Given the description of an element on the screen output the (x, y) to click on. 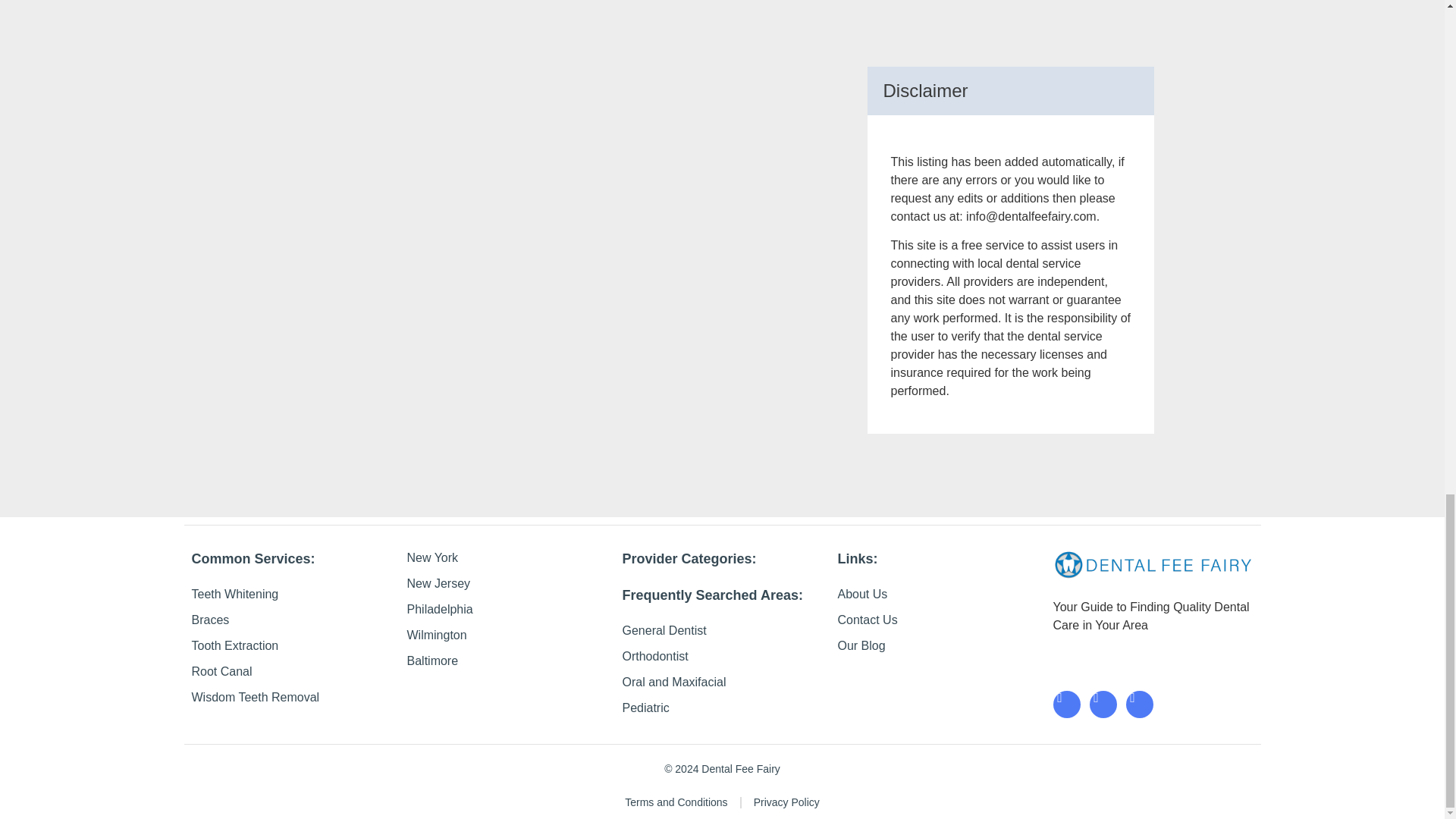
Oral and Maxifacial (721, 682)
Pediatric (721, 708)
New York (506, 557)
Wilmington (506, 635)
Wisdom Teeth Removal (290, 697)
Philadelphia (506, 609)
General Dentist (721, 630)
Baltimore (506, 660)
New Jersey (506, 583)
Root Canal (290, 671)
Braces (290, 619)
Orthodontist (721, 656)
Teeth Whitening (290, 594)
Tooth Extraction (290, 646)
Our Blog (936, 646)
